Given the description of an element on the screen output the (x, y) to click on. 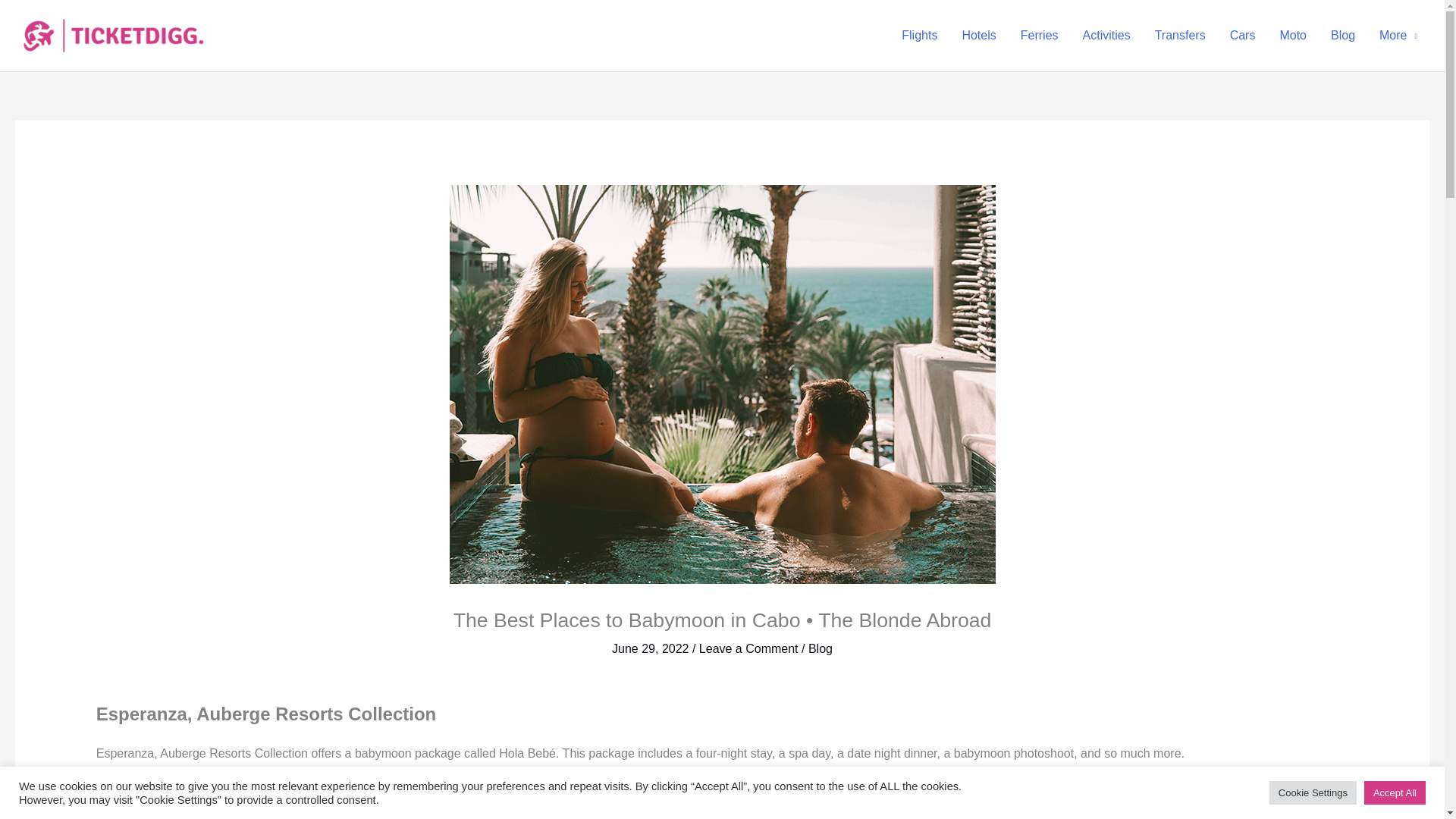
Moto (1292, 35)
Activities (1106, 35)
More (1398, 35)
Transfers (1179, 35)
Flights (919, 35)
Blog (820, 648)
Cars (1242, 35)
The Best One-Stop Shop for Your Travel Needs (113, 35)
Ferries (1039, 35)
Blog (1343, 35)
